Given the description of an element on the screen output the (x, y) to click on. 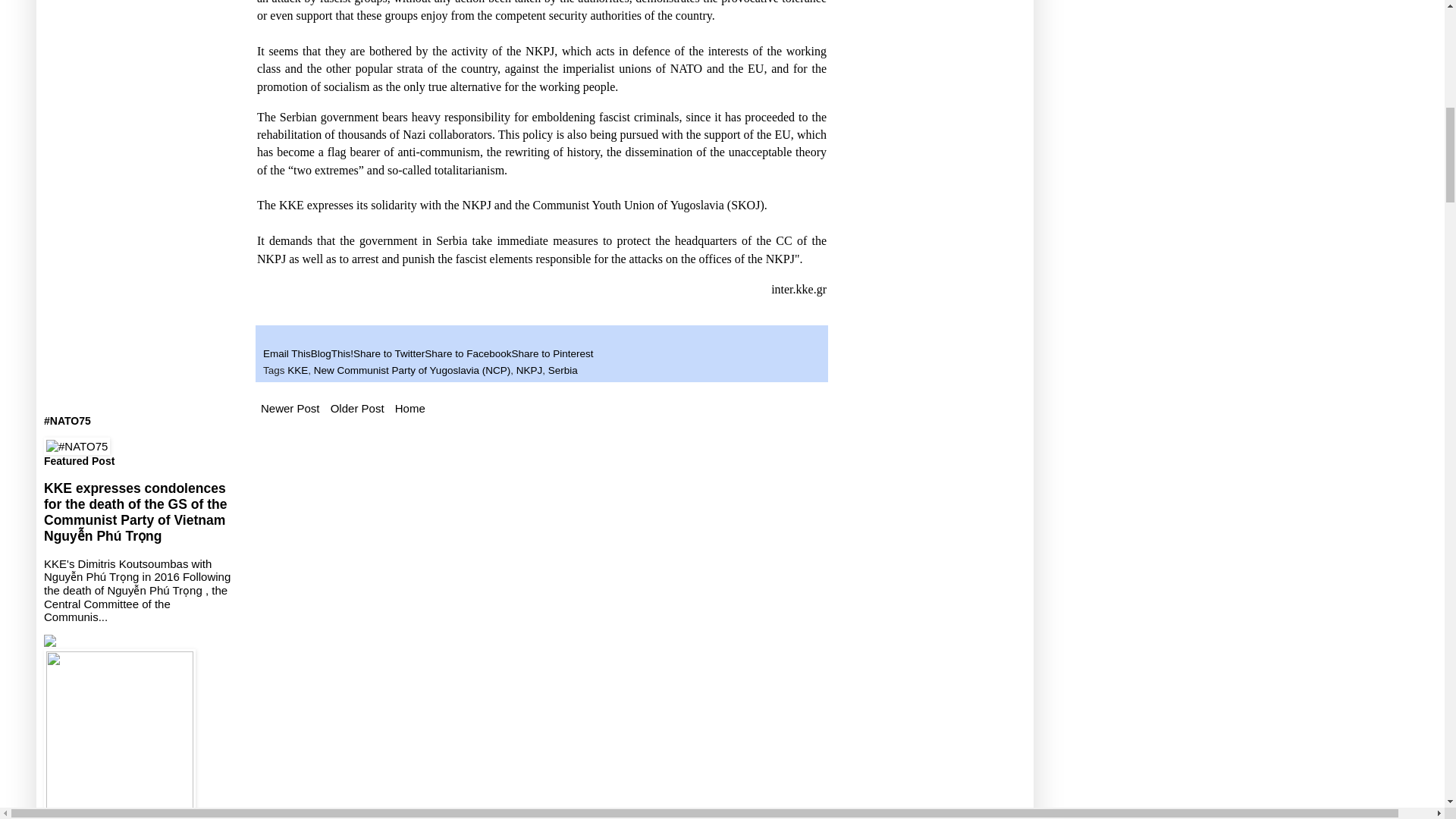
KKE (296, 369)
Share to Pinterest (551, 353)
Email Post (269, 337)
Share to Pinterest (551, 353)
Newer Post (290, 408)
Older Post (357, 408)
Newer Post (290, 408)
BlogThis! (332, 353)
BlogThis! (332, 353)
Share to Facebook (468, 353)
Email This (287, 353)
Serbia (563, 369)
Older Post (357, 408)
Home (410, 408)
Share to Facebook (468, 353)
